Given the description of an element on the screen output the (x, y) to click on. 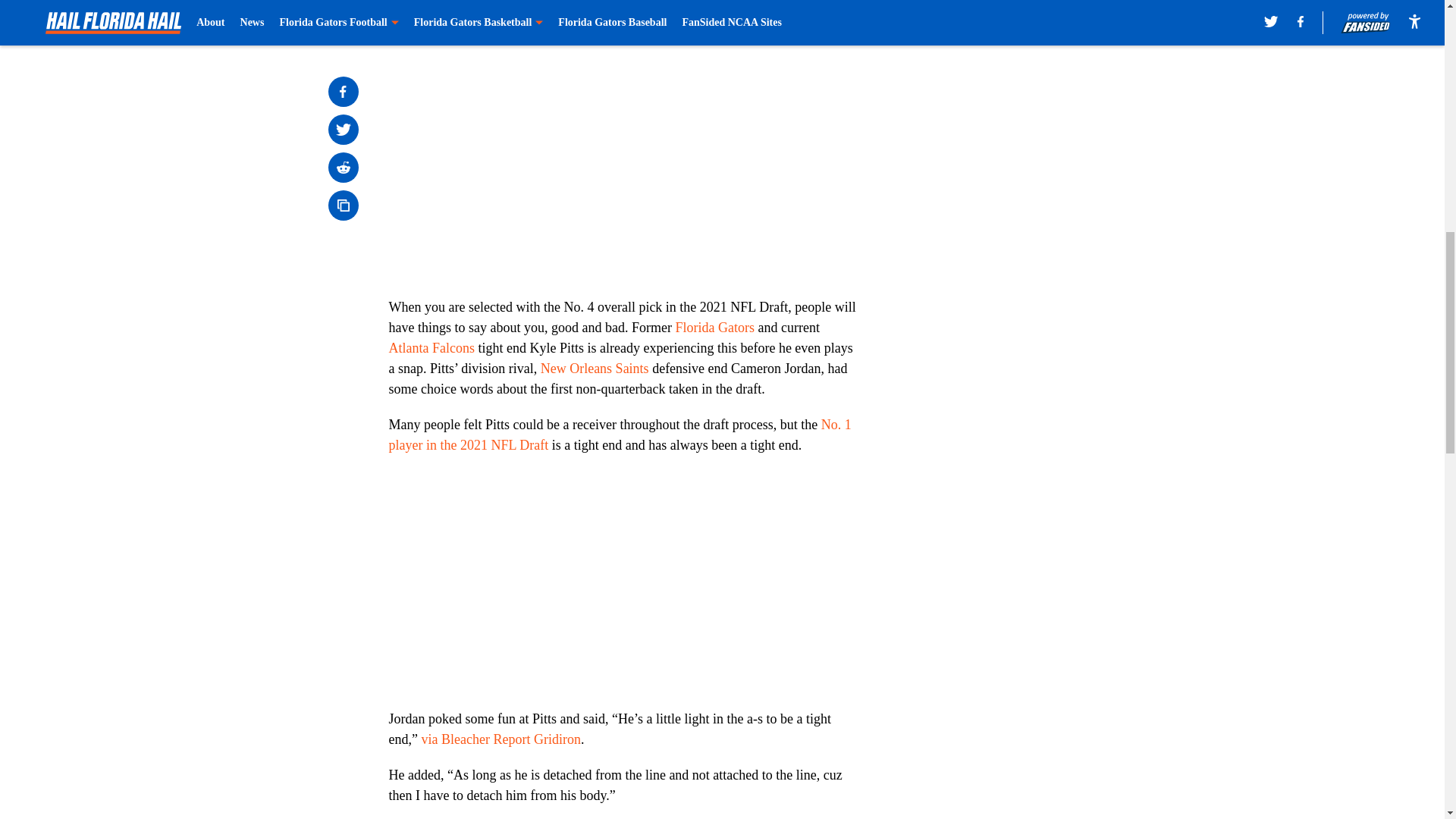
Atlanta Falcons (431, 347)
Florida Gators (714, 327)
New Orleans Saints (594, 368)
No. 1 player in the 2021 NFL Draft (619, 434)
via Bleacher Report Gridiron (499, 739)
